Given the description of an element on the screen output the (x, y) to click on. 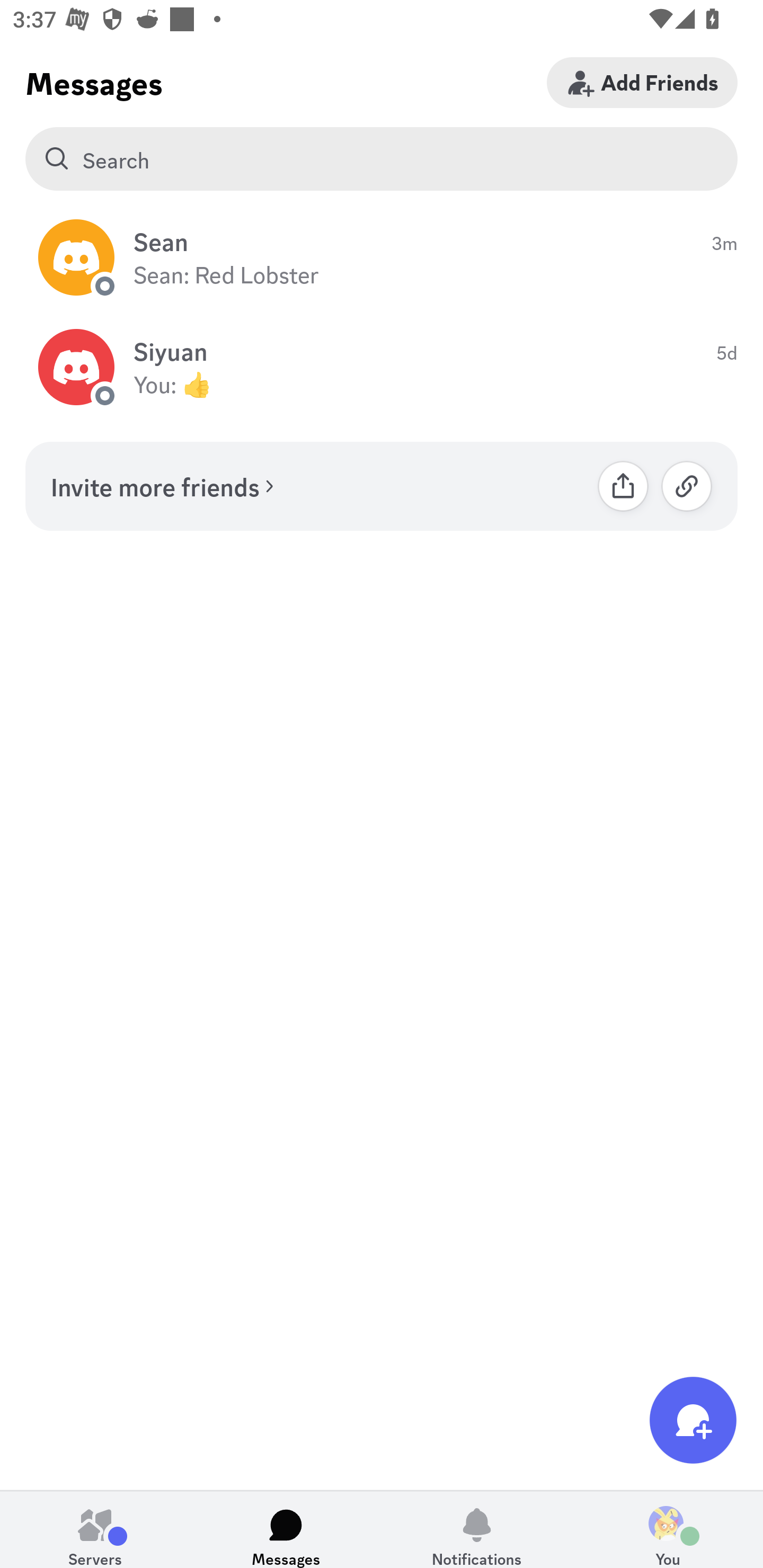
Add Friends (642, 82)
Search (381, 159)
Sean (direct message) Sean 3m Sean: Red Lobster (381, 257)
Siyuan (direct message) Siyuan 5d You: 👍 (381, 367)
Share Link (622, 485)
Copy Link (686, 485)
New Message (692, 1419)
Servers (95, 1529)
Messages (285, 1529)
Notifications (476, 1529)
You (667, 1529)
